Given the description of an element on the screen output the (x, y) to click on. 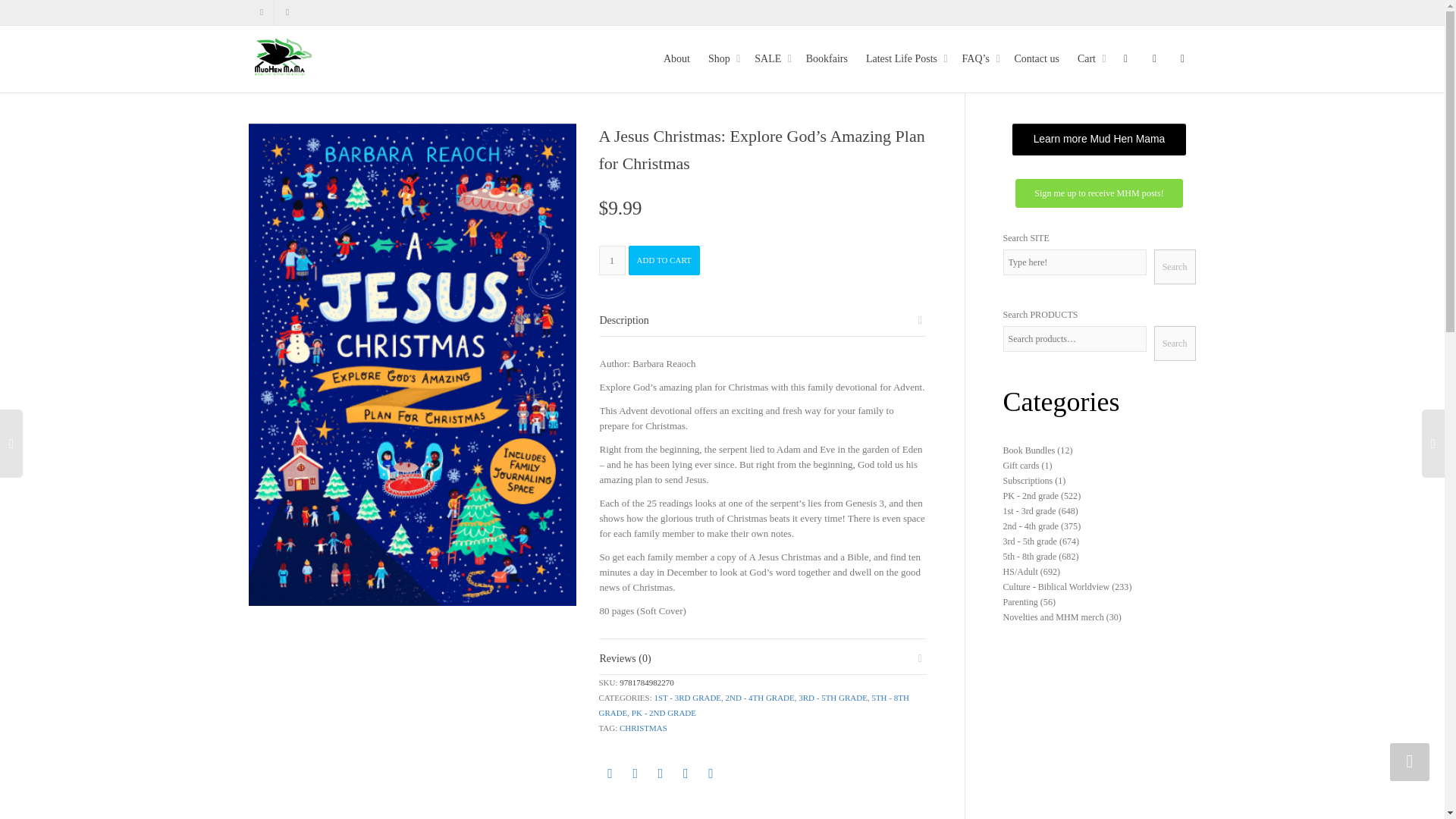
Cart (1089, 58)
1 (612, 260)
1ST - 3RD GRADE (686, 696)
3RD - 5TH GRADE (832, 696)
SALE (770, 58)
Shop (721, 58)
Description (622, 319)
About (676, 58)
2ND - 4TH GRADE (759, 696)
5TH - 8TH GRADE (753, 704)
Bookfairs (826, 58)
ADD TO CART (662, 260)
Latest Life Posts (904, 58)
FAQ's (978, 58)
Shop (721, 58)
